Given the description of an element on the screen output the (x, y) to click on. 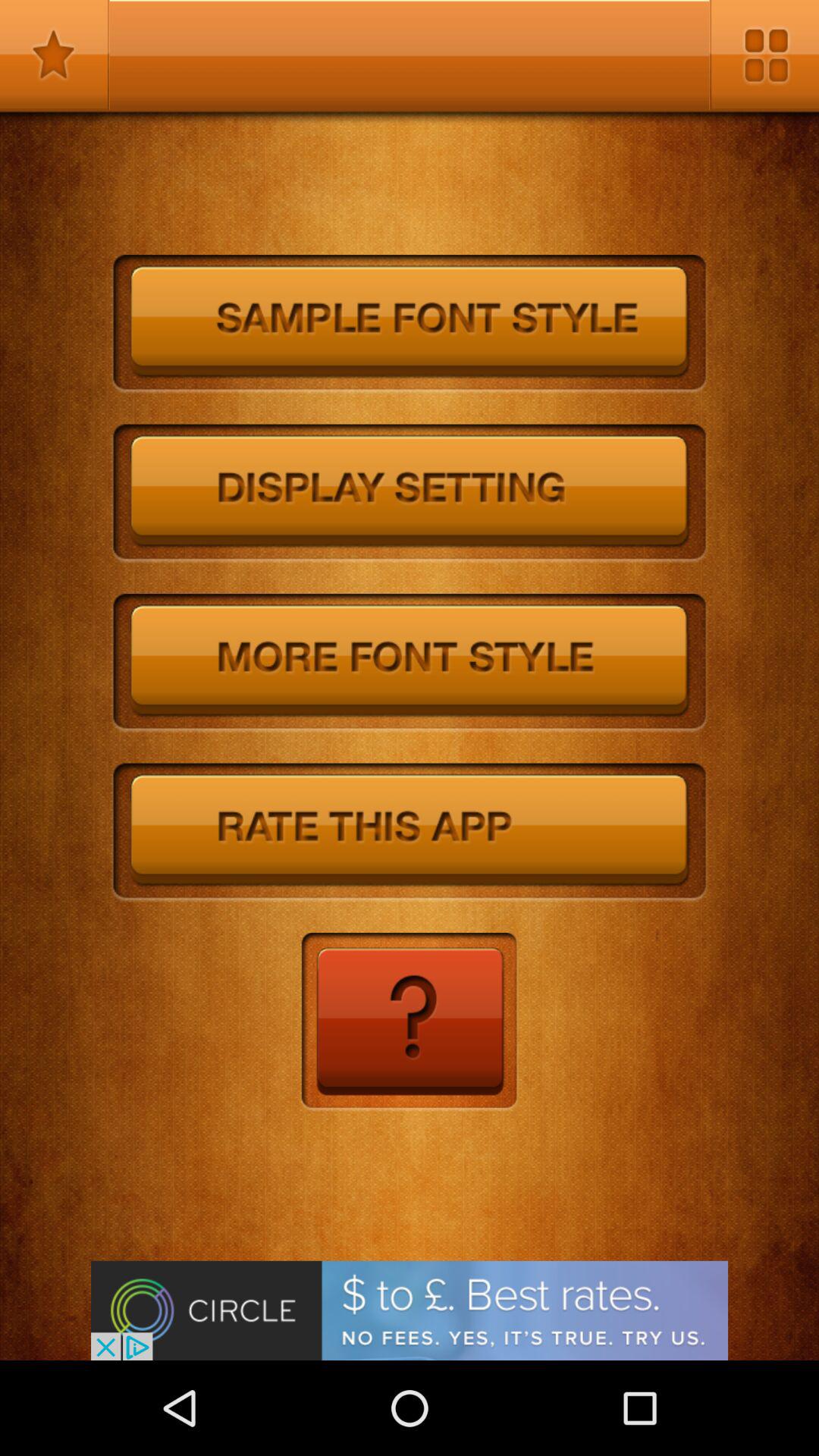
help option (408, 1021)
